Given the description of an element on the screen output the (x, y) to click on. 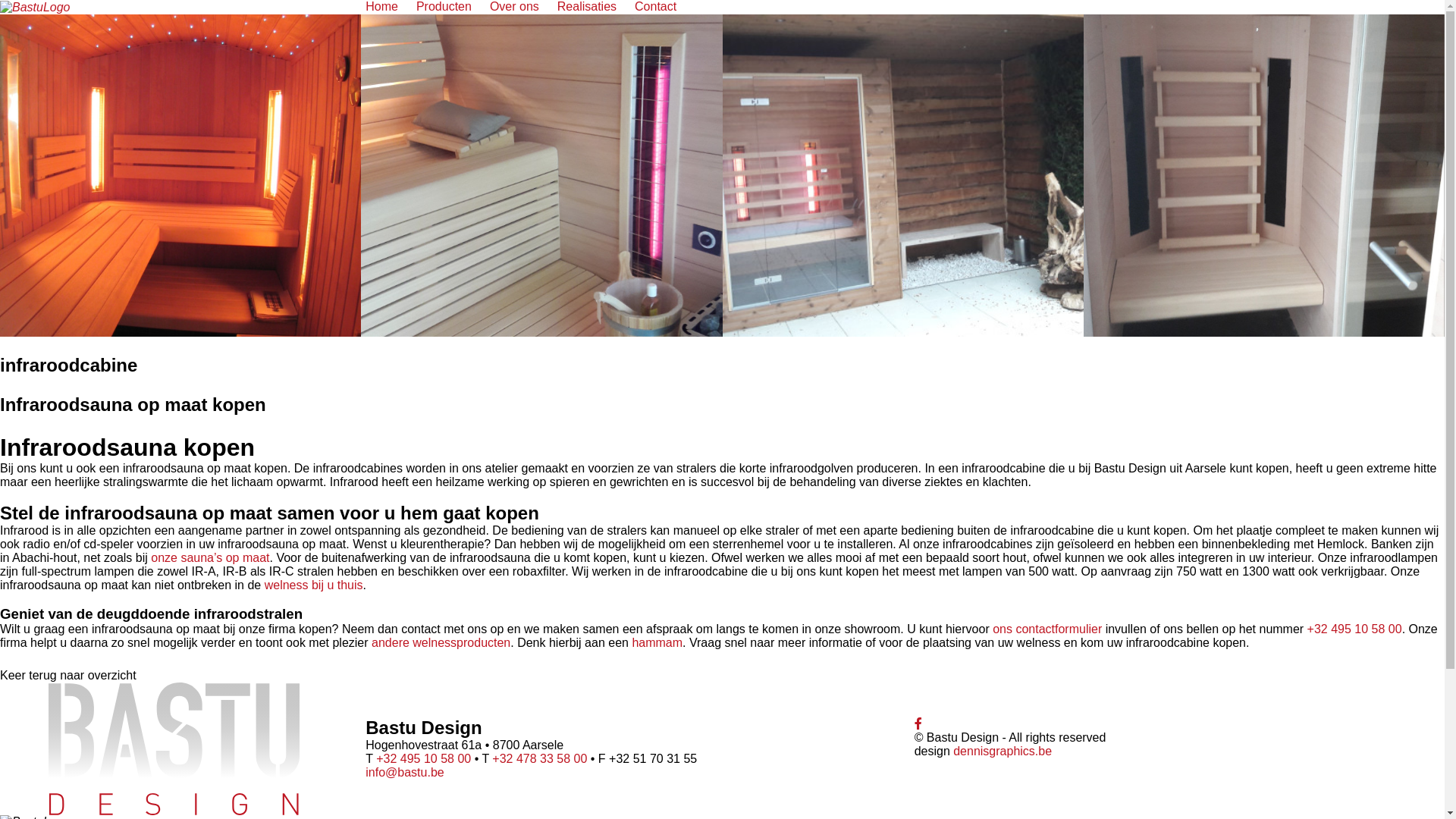
dennisgraphics.be Element type: text (1002, 750)
Over ons Element type: text (514, 6)
hammam Element type: text (656, 642)
andere welnessproducten Element type: text (440, 642)
Keer terug naar overzicht Element type: text (68, 675)
+32 495 10 58 00 Element type: text (423, 758)
Producten Element type: text (443, 6)
+32 478 33 58 00 Element type: text (539, 758)
ons contactformulier Element type: text (1046, 628)
+32 495 10 58 00 Element type: text (1354, 628)
Contact Element type: text (655, 6)
welness bij u thuis Element type: text (313, 584)
info@bastu.be Element type: text (404, 771)
Realisaties Element type: text (586, 6)
Home Element type: text (381, 6)
